Given the description of an element on the screen output the (x, y) to click on. 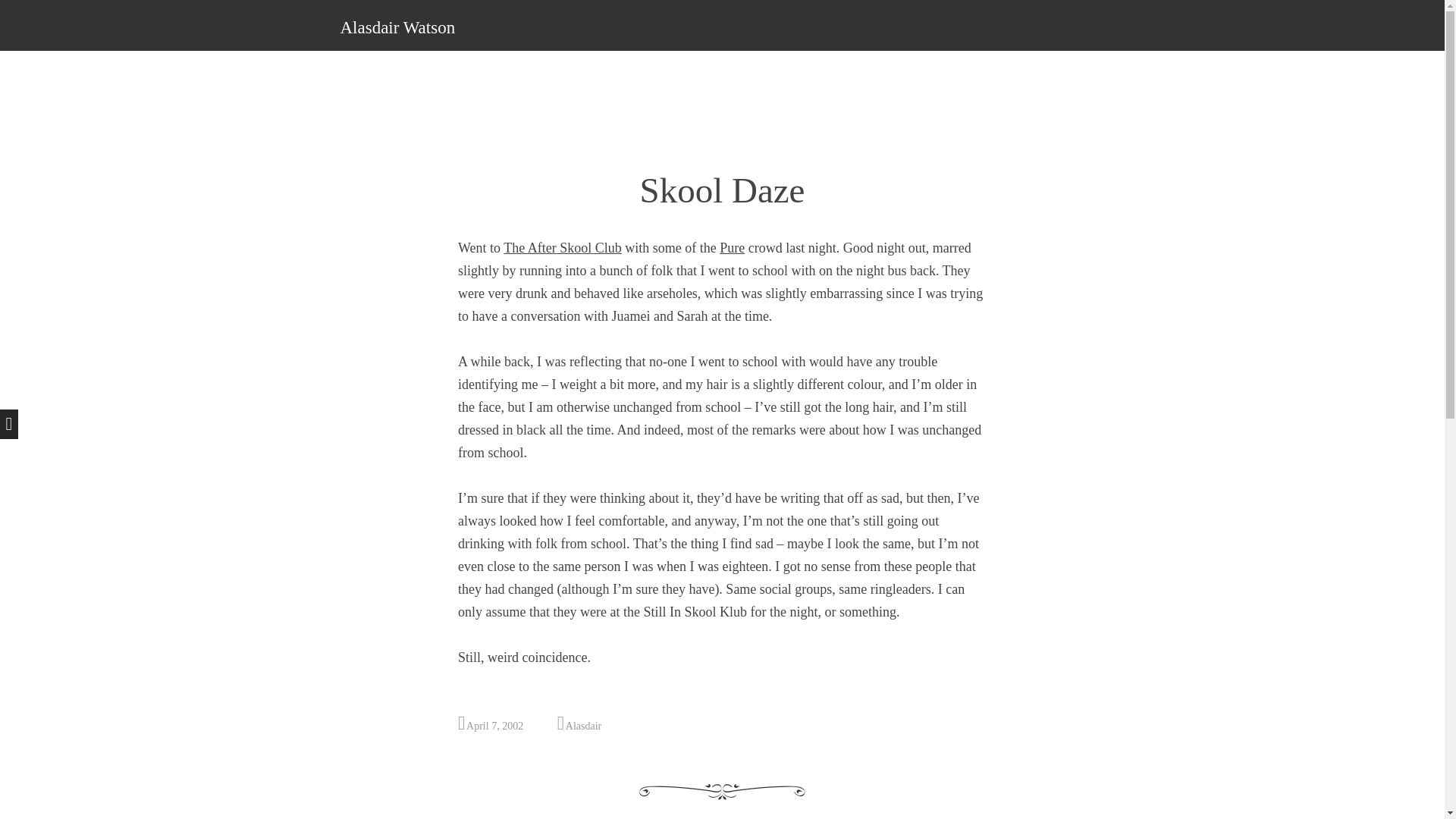
10:09 am (493, 726)
Pure (731, 247)
Alasdair Watson (396, 27)
April 7, 2002 (493, 726)
View all posts by Alasdair (583, 726)
The After Skool Club (562, 247)
Alasdair (583, 726)
Alasdair Watson (396, 27)
